Given the description of an element on the screen output the (x, y) to click on. 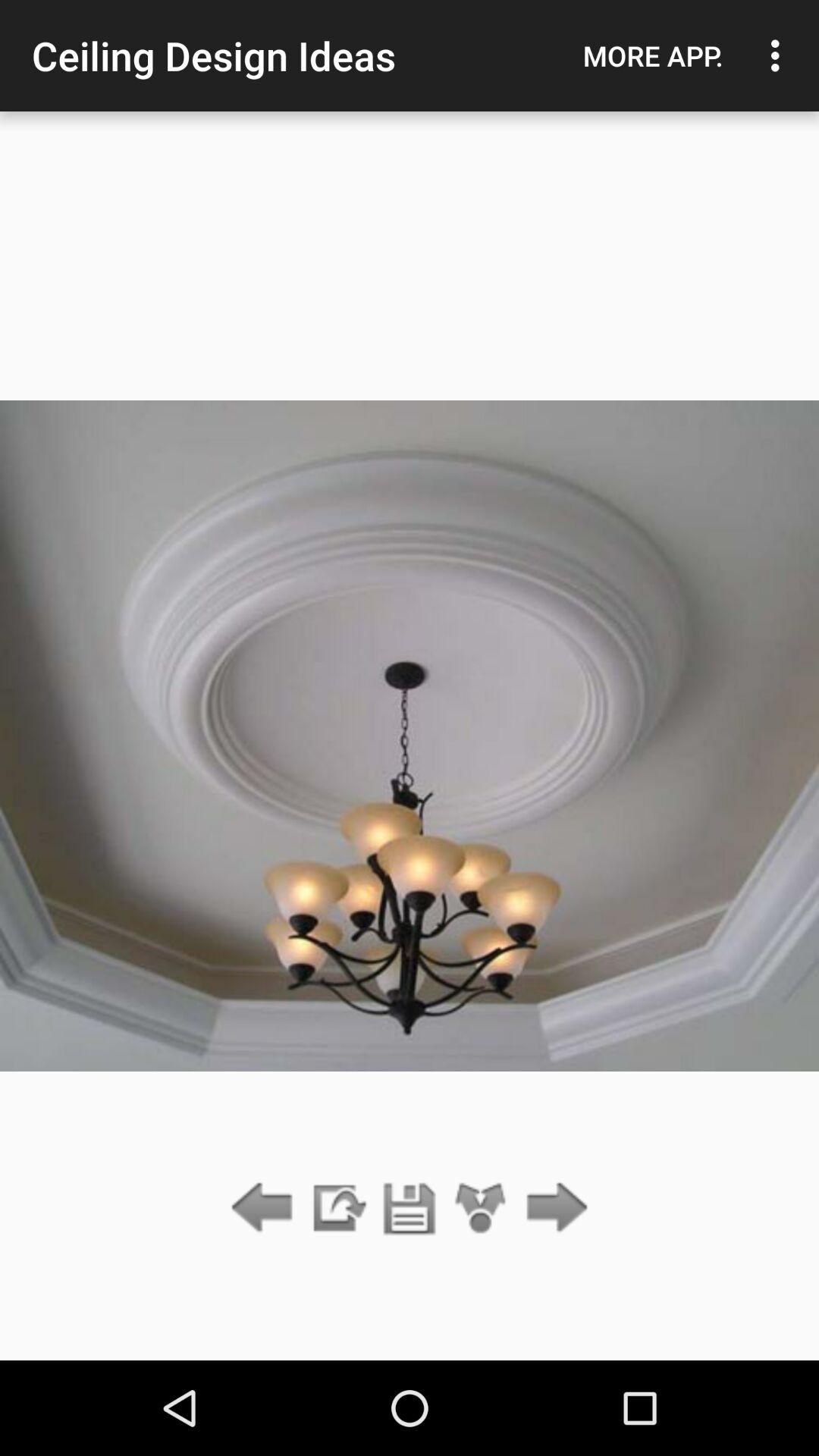
external share (337, 1208)
